Given the description of an element on the screen output the (x, y) to click on. 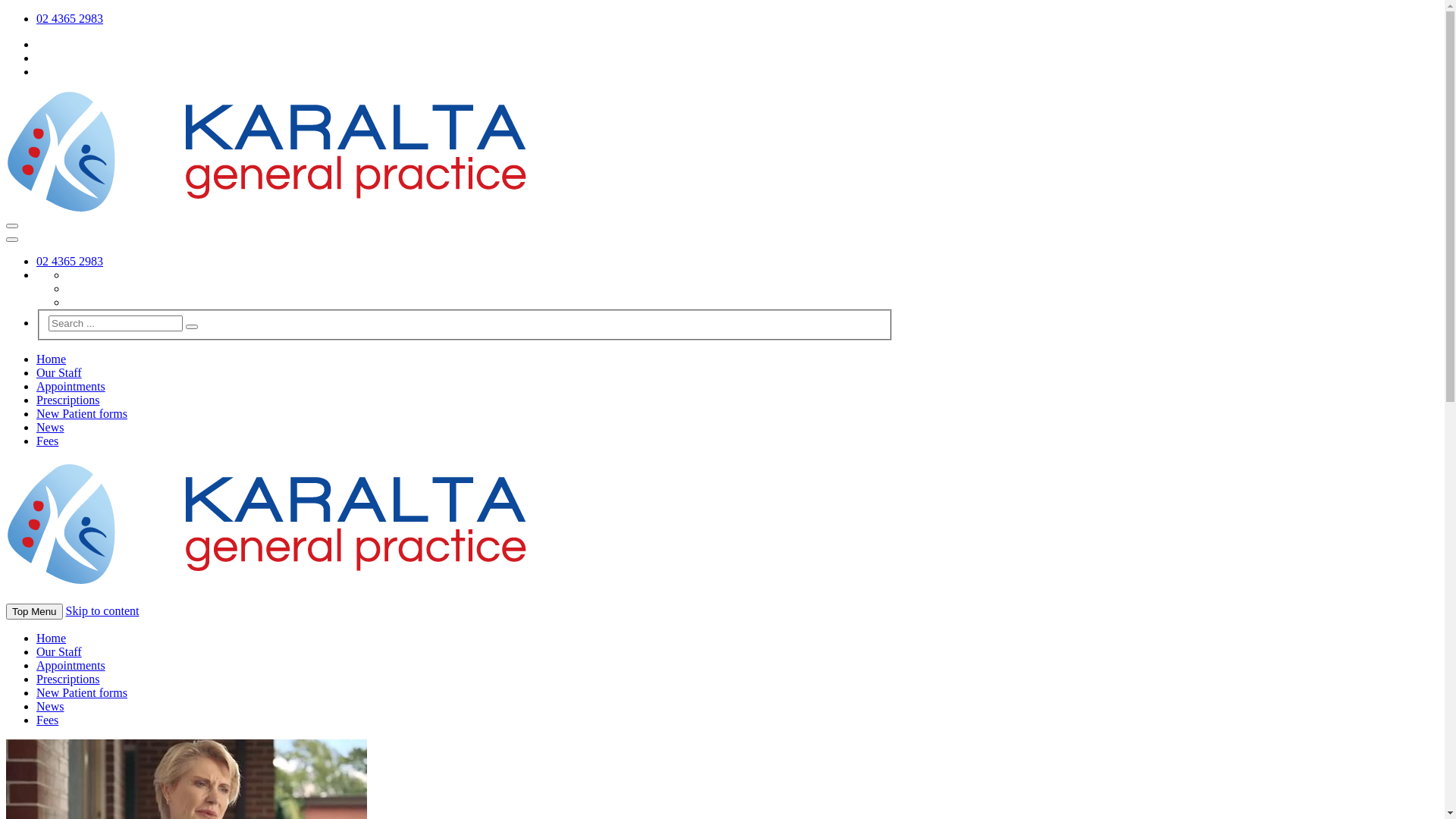
New Patient forms Element type: text (81, 413)
New Patient forms Element type: text (81, 692)
Fees Element type: text (47, 719)
Fees Element type: text (47, 440)
Top Menu Element type: text (34, 611)
02 4365 2983 Element type: text (69, 260)
News Element type: text (49, 426)
Karalta General Practice Element type: hover (267, 578)
Prescriptions Element type: text (68, 678)
Our Staff Element type: text (58, 372)
Appointments Element type: text (70, 664)
Appointments Element type: text (70, 385)
Prescriptions Element type: text (68, 399)
Home Element type: text (50, 637)
Our Staff Element type: text (58, 651)
Skip to content Element type: text (102, 610)
Karalta General Practice Element type: hover (267, 207)
Home Element type: text (50, 358)
News Element type: text (49, 705)
02 4365 2983 Element type: text (69, 18)
